Given the description of an element on the screen output the (x, y) to click on. 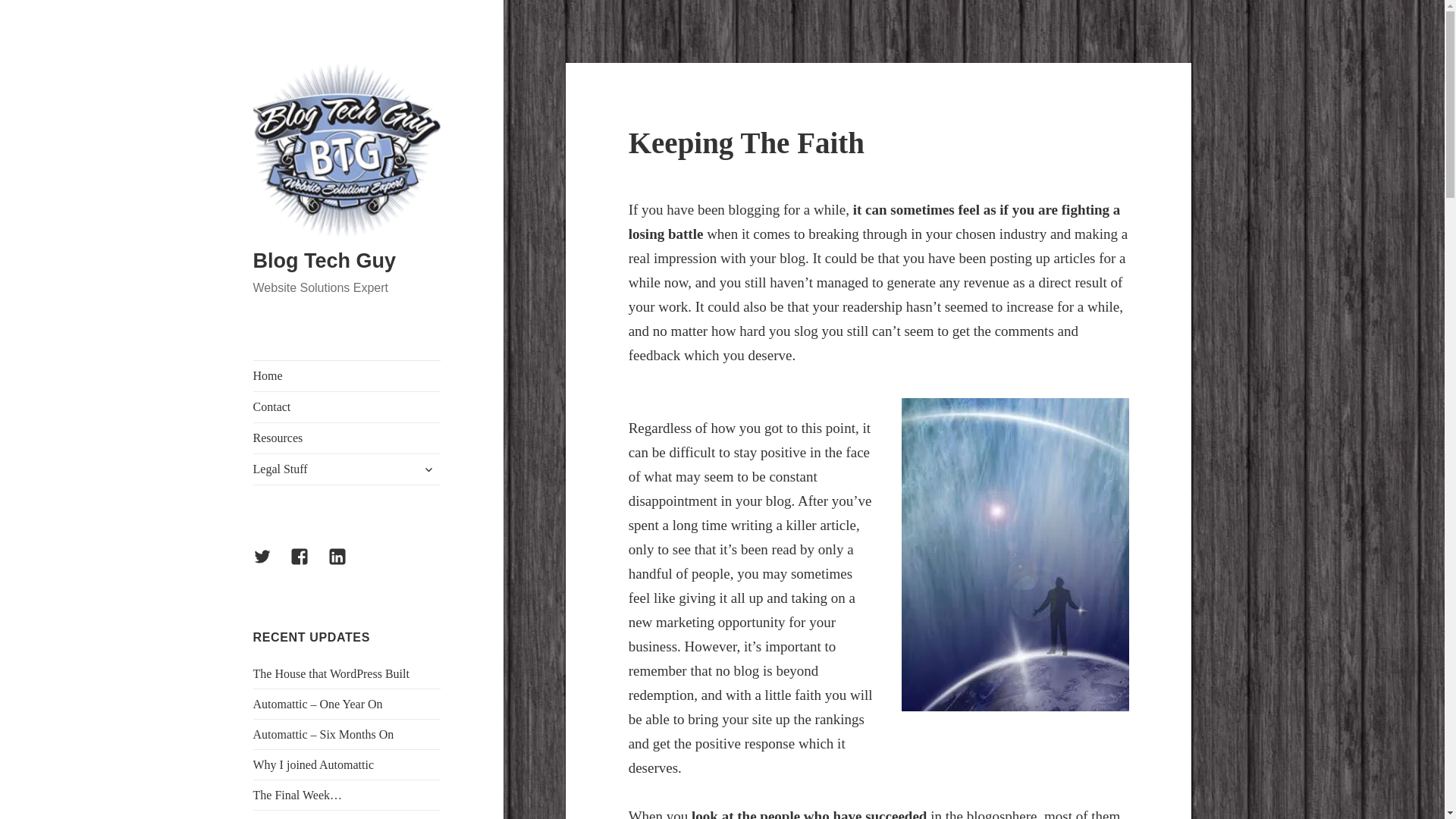
believe (1015, 554)
Home (347, 376)
The House that WordPress Built (331, 673)
Twitter (271, 565)
LinkedIn (347, 565)
Facebook (307, 565)
Why I joined Automattic (313, 764)
Contact (347, 407)
Blog Tech Guy (324, 260)
Resources (347, 438)
expand child menu (428, 469)
Legal Stuff (347, 469)
